Given the description of an element on the screen output the (x, y) to click on. 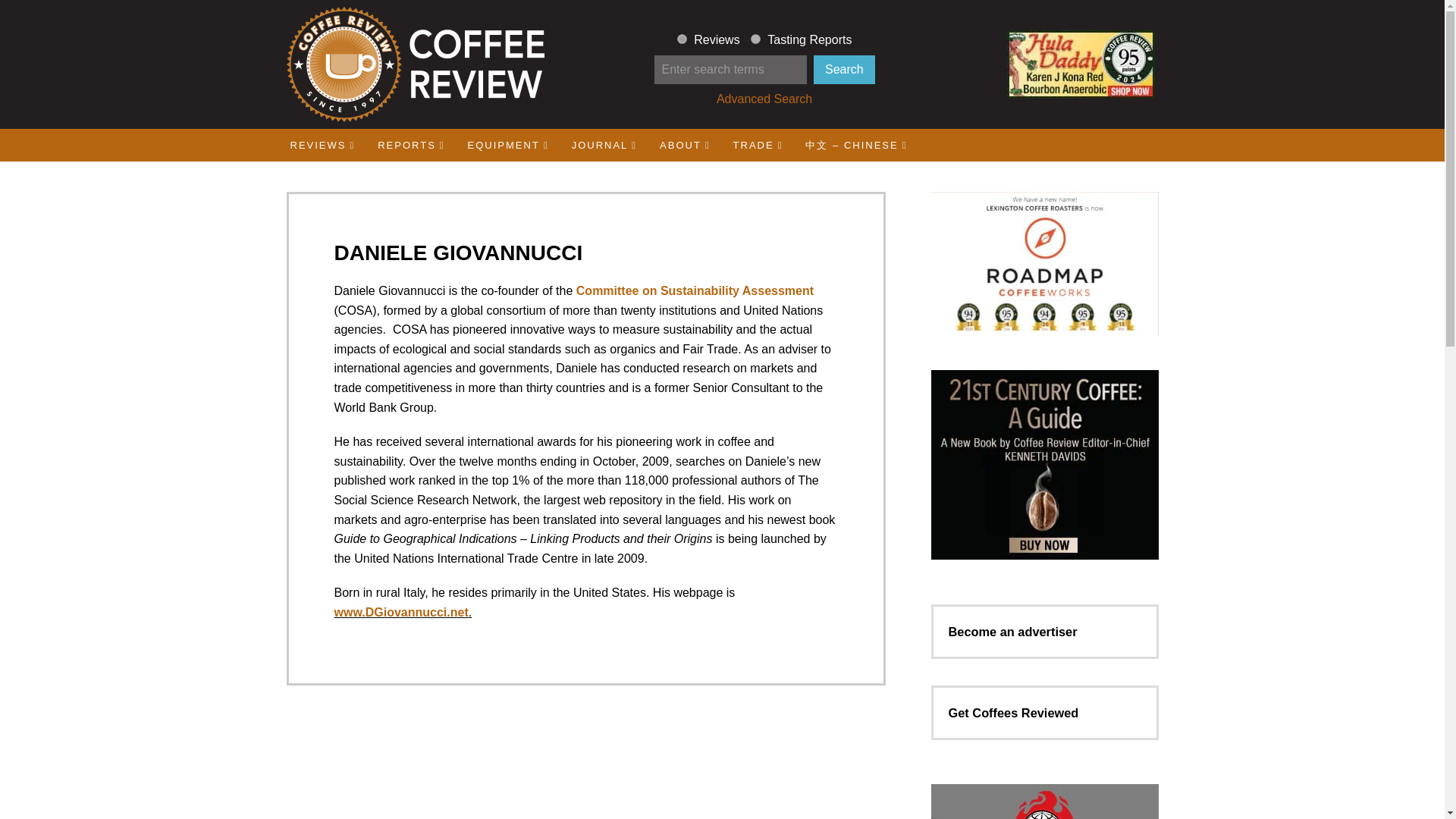
ABOUT (684, 144)
JOURNAL (603, 144)
Search (844, 69)
post (755, 39)
Become an advertiser (1012, 631)
COSA (694, 290)
Search (844, 69)
COFFEE REVIEW (414, 64)
review (682, 39)
EQUIPMENT (508, 144)
REPORTS (410, 144)
REVIEWS (322, 144)
Search (844, 69)
Get coffees reviewed (1012, 712)
